Given the description of an element on the screen output the (x, y) to click on. 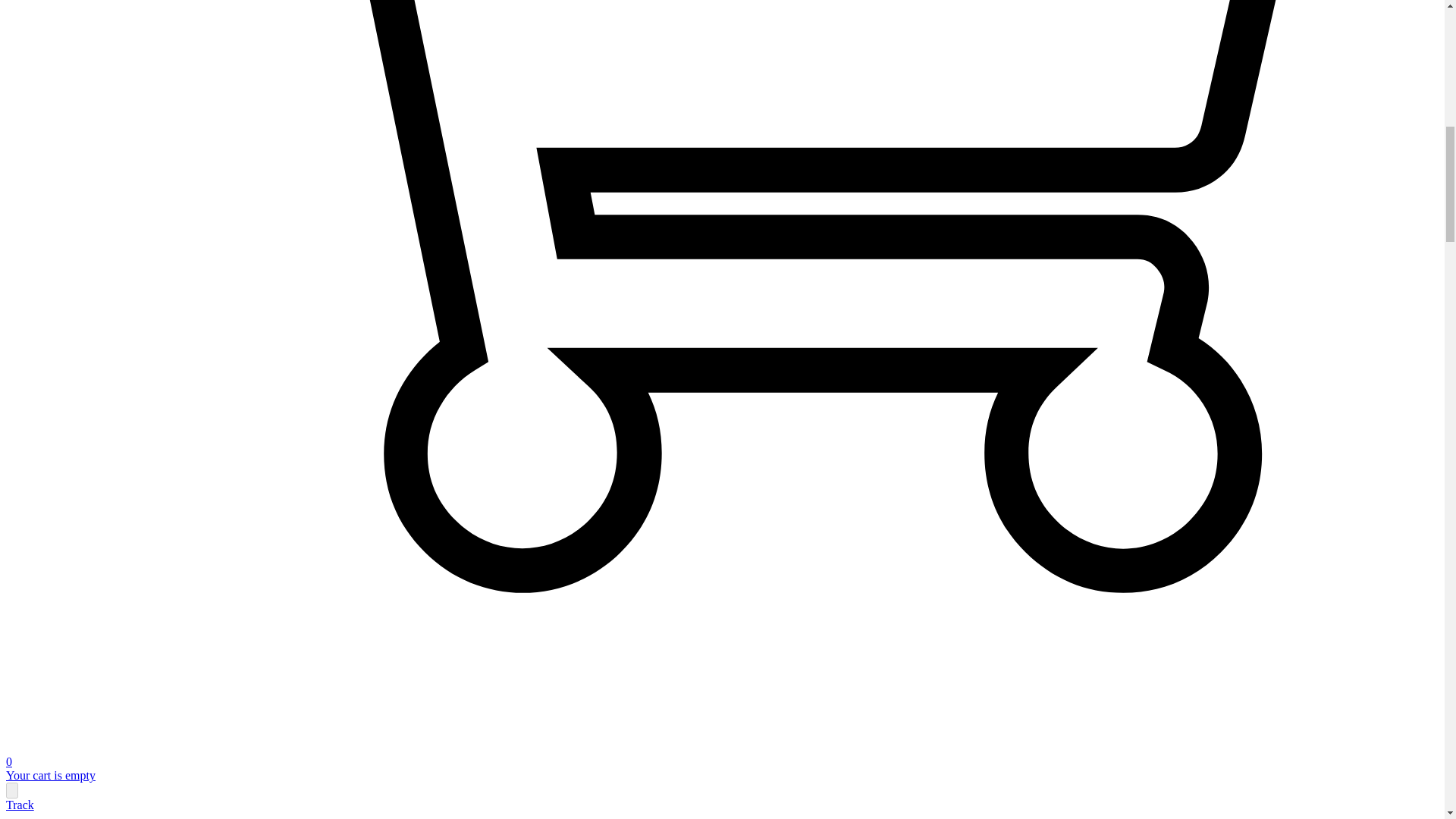
Track (19, 804)
Your cart is empty (50, 775)
